Given the description of an element on the screen output the (x, y) to click on. 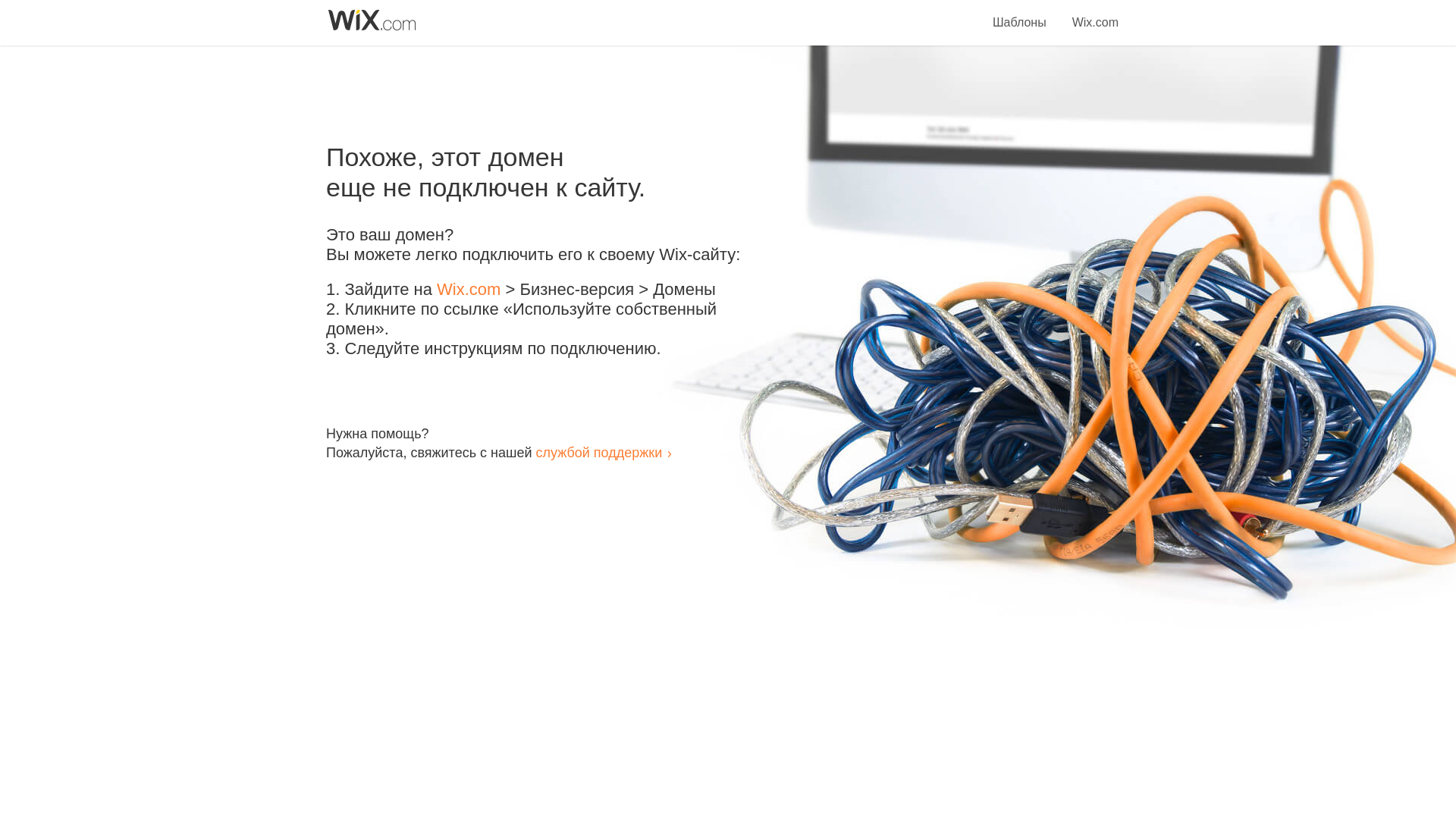
Wix.com (468, 289)
Wix.com (1095, 14)
